Given the description of an element on the screen output the (x, y) to click on. 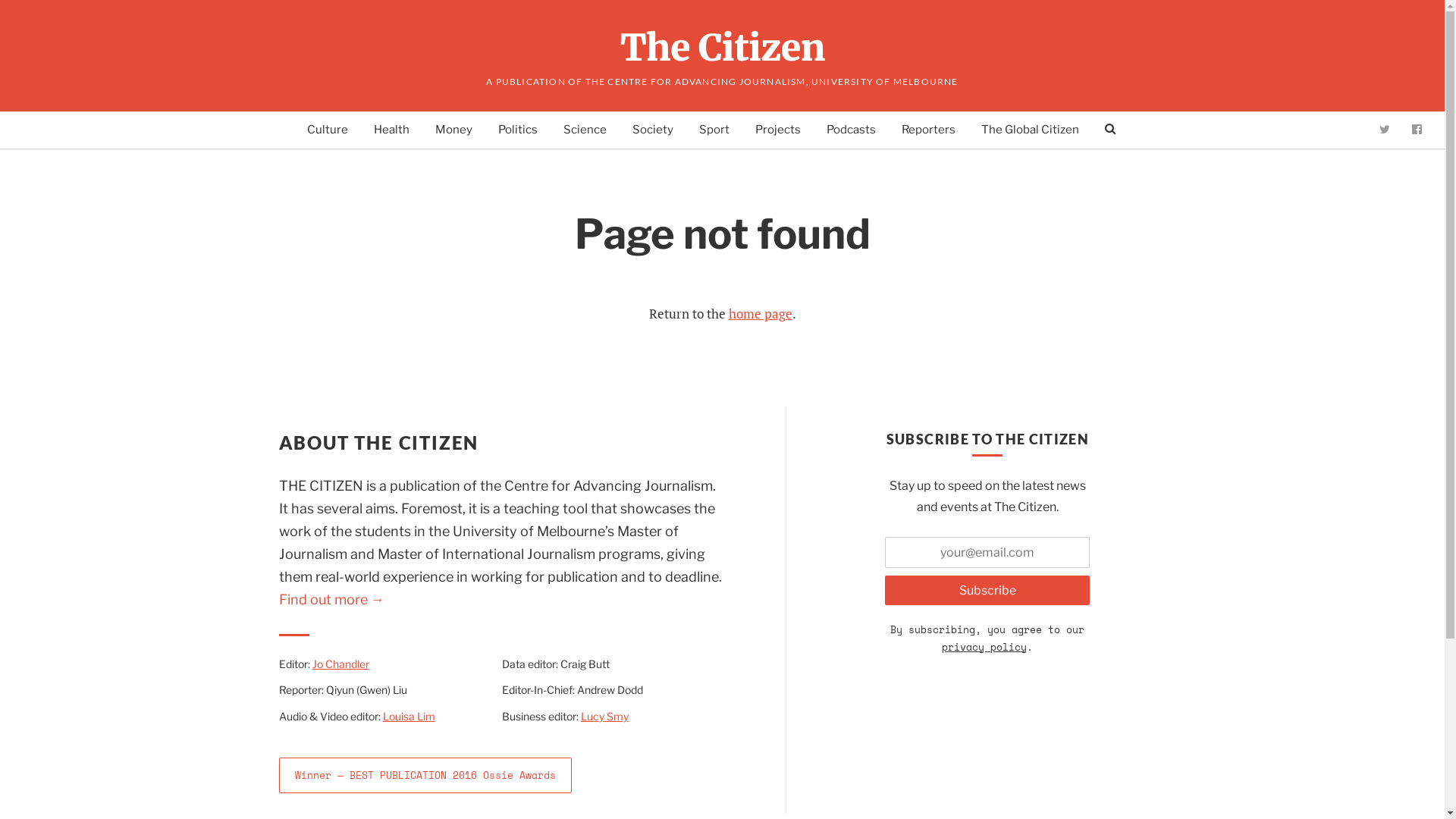
Sport Element type: text (714, 129)
Podcasts Element type: text (850, 129)
The Global Citizen Element type: text (1030, 129)
Politics Element type: text (516, 129)
privacy policy Element type: text (983, 646)
Money Element type: text (453, 129)
Society Element type: text (652, 129)
Culture Element type: text (326, 129)
Subscribe Element type: text (986, 590)
Science Element type: text (583, 129)
Lucy Smy Element type: text (604, 715)
Health Element type: text (390, 129)
Projects Element type: text (777, 129)
Louisa Lim Element type: text (408, 715)
Jo Chandler Element type: text (340, 663)
Reporters Element type: text (927, 129)
home page Element type: text (759, 313)
